Given the description of an element on the screen output the (x, y) to click on. 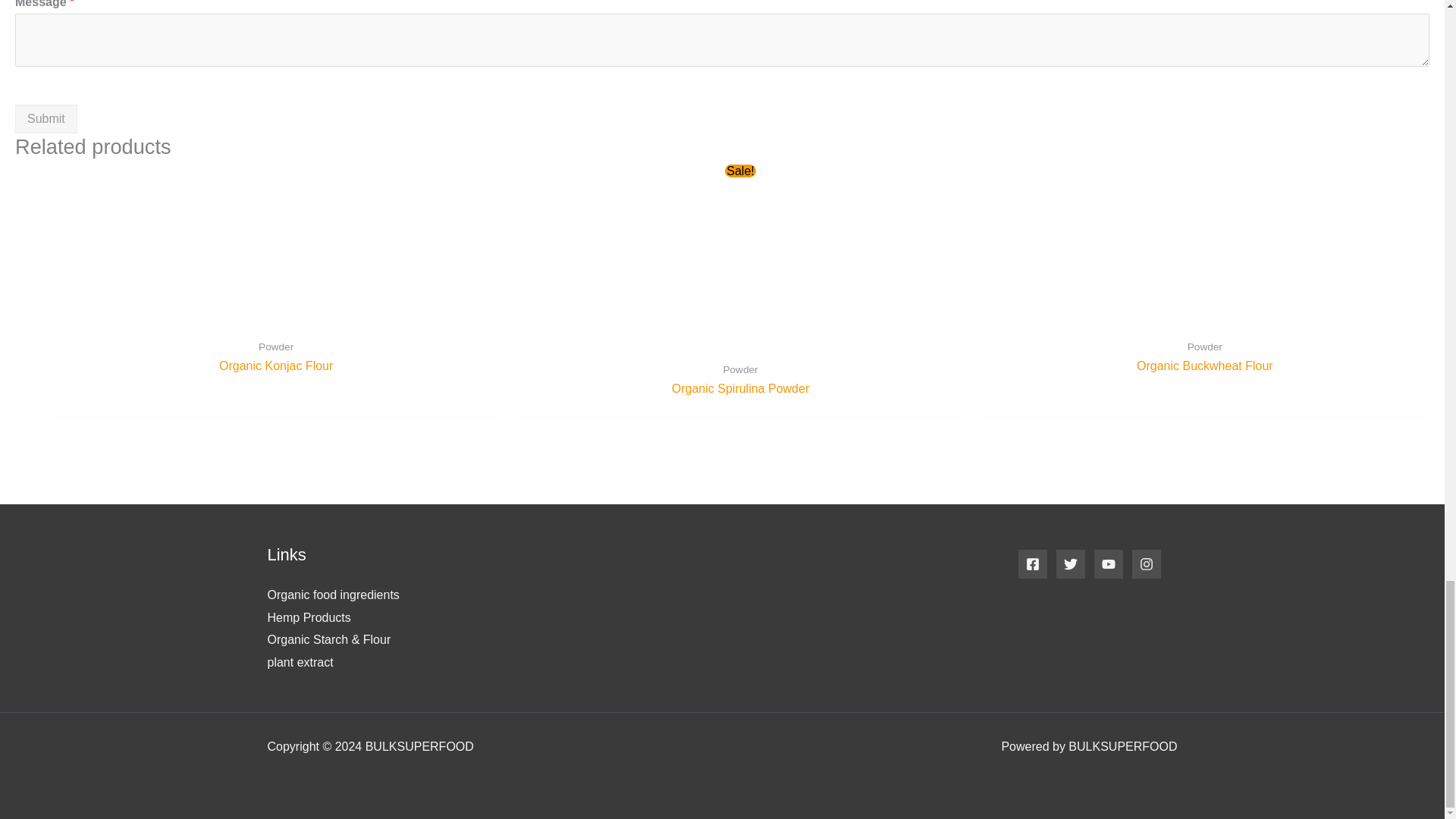
Organic Buckwheat Flour (1204, 366)
Organic food ingredients (332, 594)
Organic Konjac Flour (275, 366)
plant extract (299, 662)
Submit (45, 118)
Organic Spirulina Powder (740, 389)
Hemp Products (308, 617)
